Given the description of an element on the screen output the (x, y) to click on. 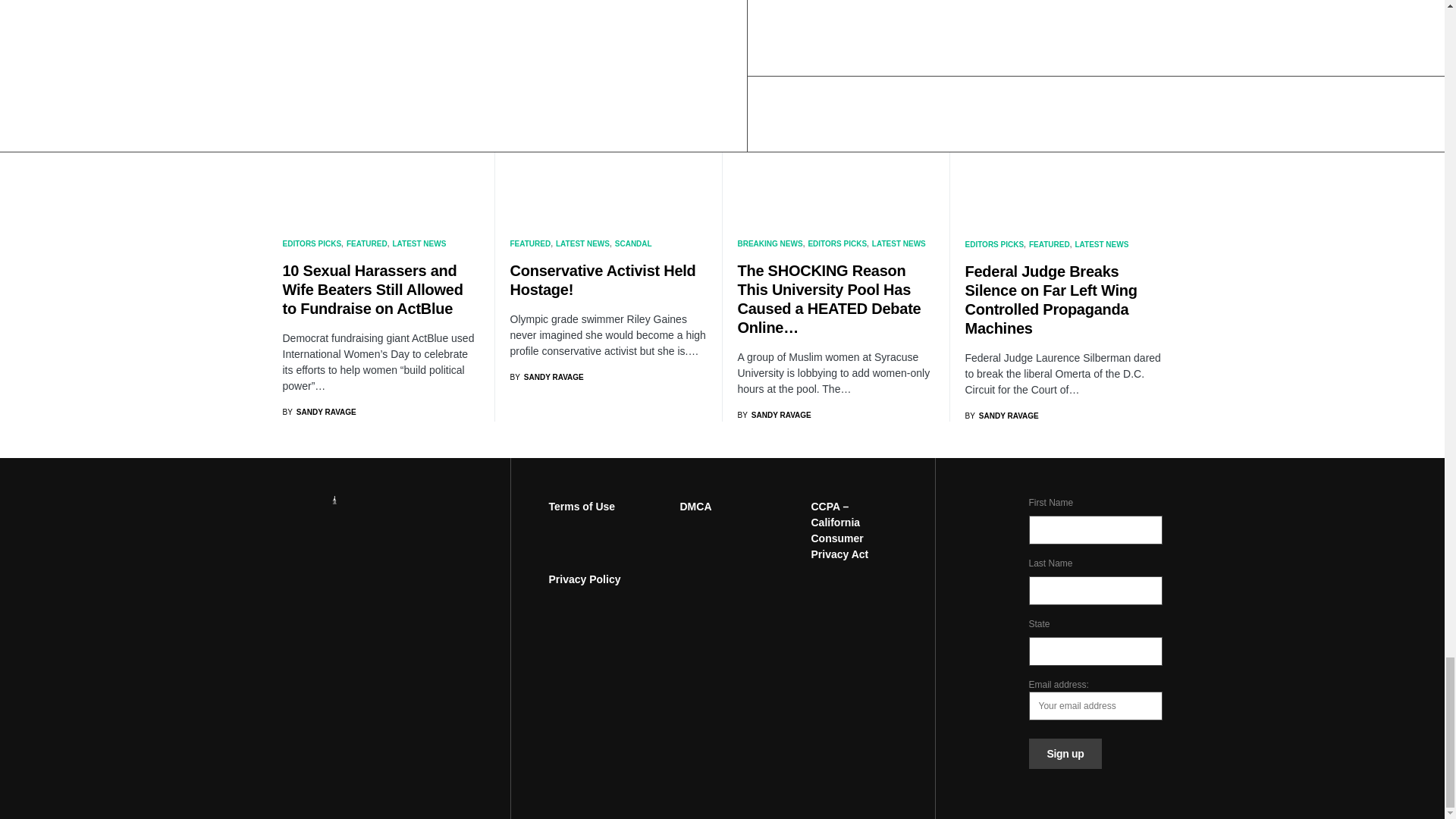
View all posts by Sandy Ravage (318, 40)
Sign up (1064, 753)
View all posts by Sandy Ravage (318, 411)
View all posts by Sandy Ravage (546, 377)
View all posts by Sandy Ravage (773, 25)
View all posts by Sandy Ravage (546, 66)
View all posts by Sandy Ravage (1000, 30)
View all posts by Sandy Ravage (1000, 415)
View all posts by Sandy Ravage (773, 414)
